Given the description of an element on the screen output the (x, y) to click on. 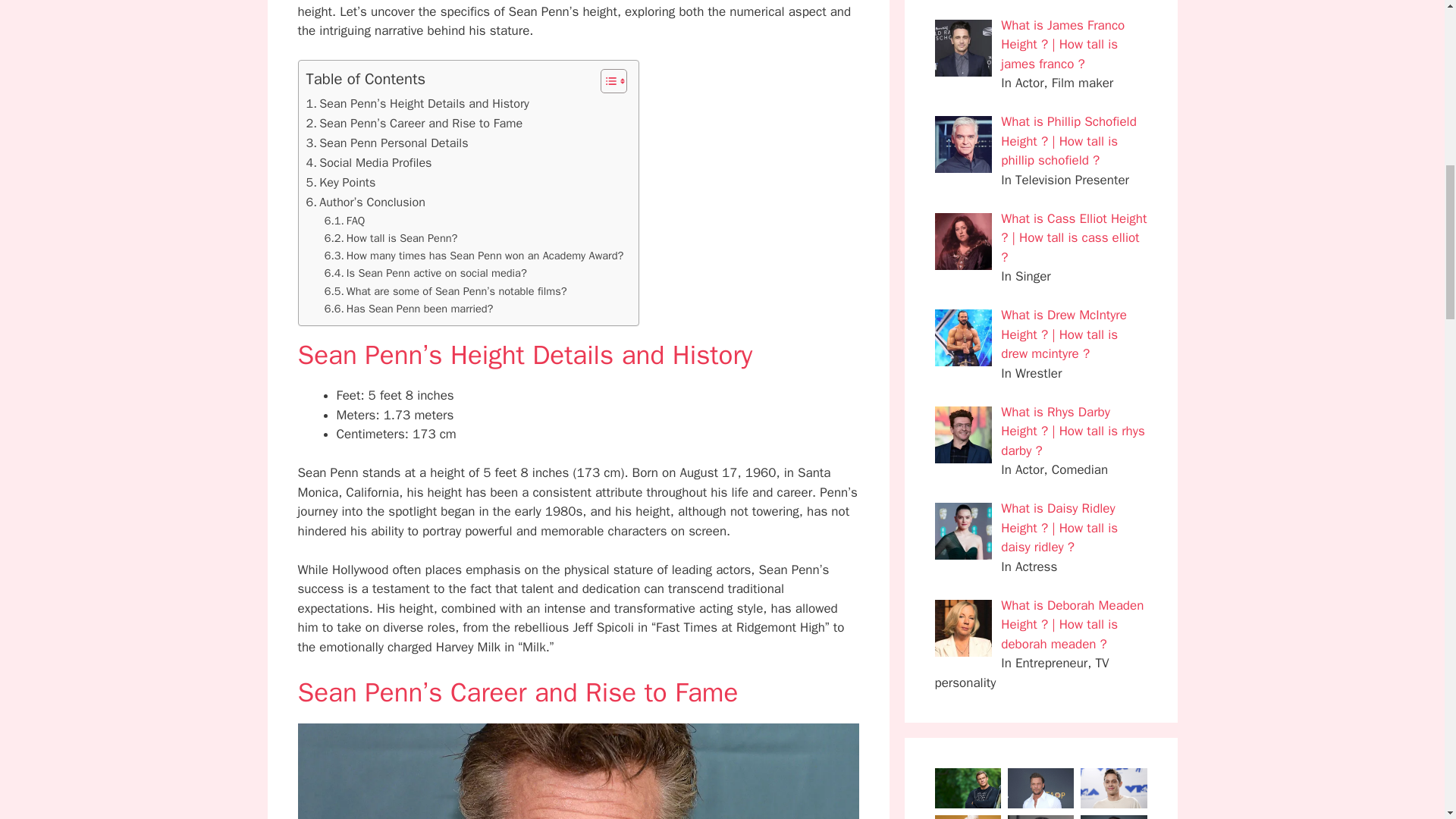
Social Media Profiles (368, 162)
Key Points (340, 182)
Sean Penn Personal Details (386, 143)
